Given the description of an element on the screen output the (x, y) to click on. 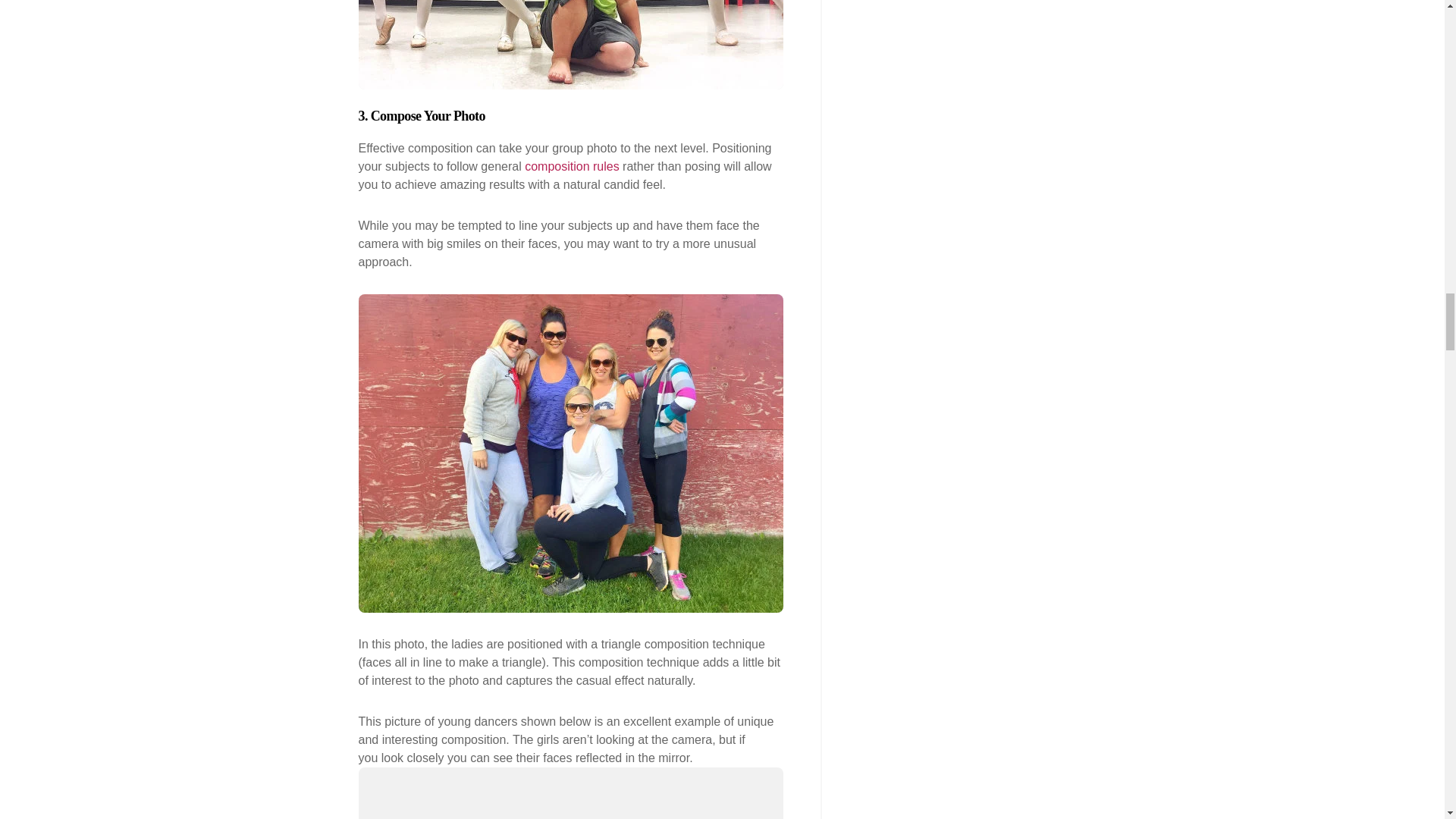
composition rules (572, 165)
